Given the description of an element on the screen output the (x, y) to click on. 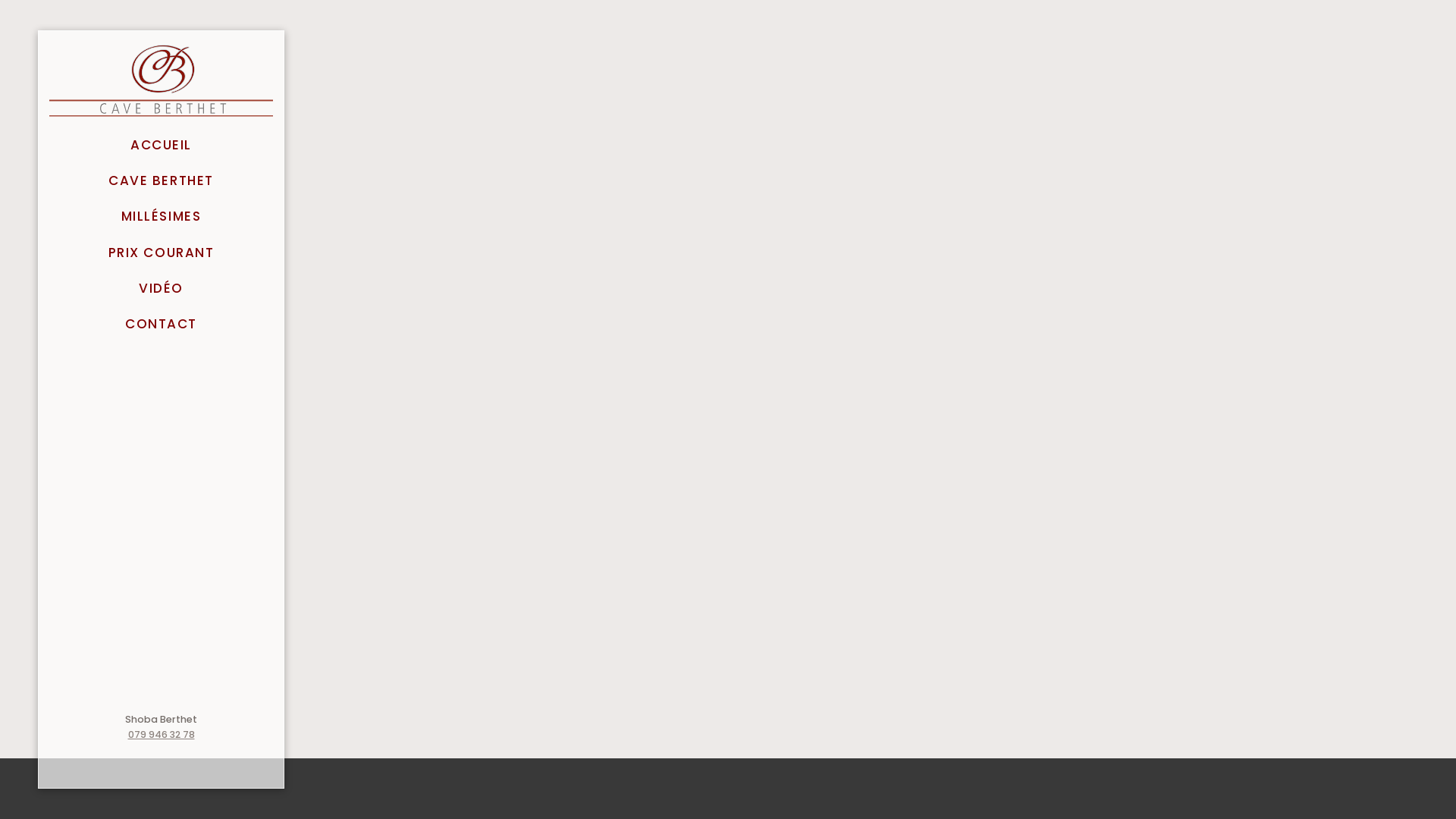
ACCUEIL Element type: text (160, 143)
PRIX COURANT Element type: text (160, 251)
Cave Berthet Element type: hover (161, 79)
079 946 32 78 Element type: text (160, 734)
CAVE BERTHET Element type: text (160, 179)
CONTACT Element type: text (160, 323)
